Given the description of an element on the screen output the (x, y) to click on. 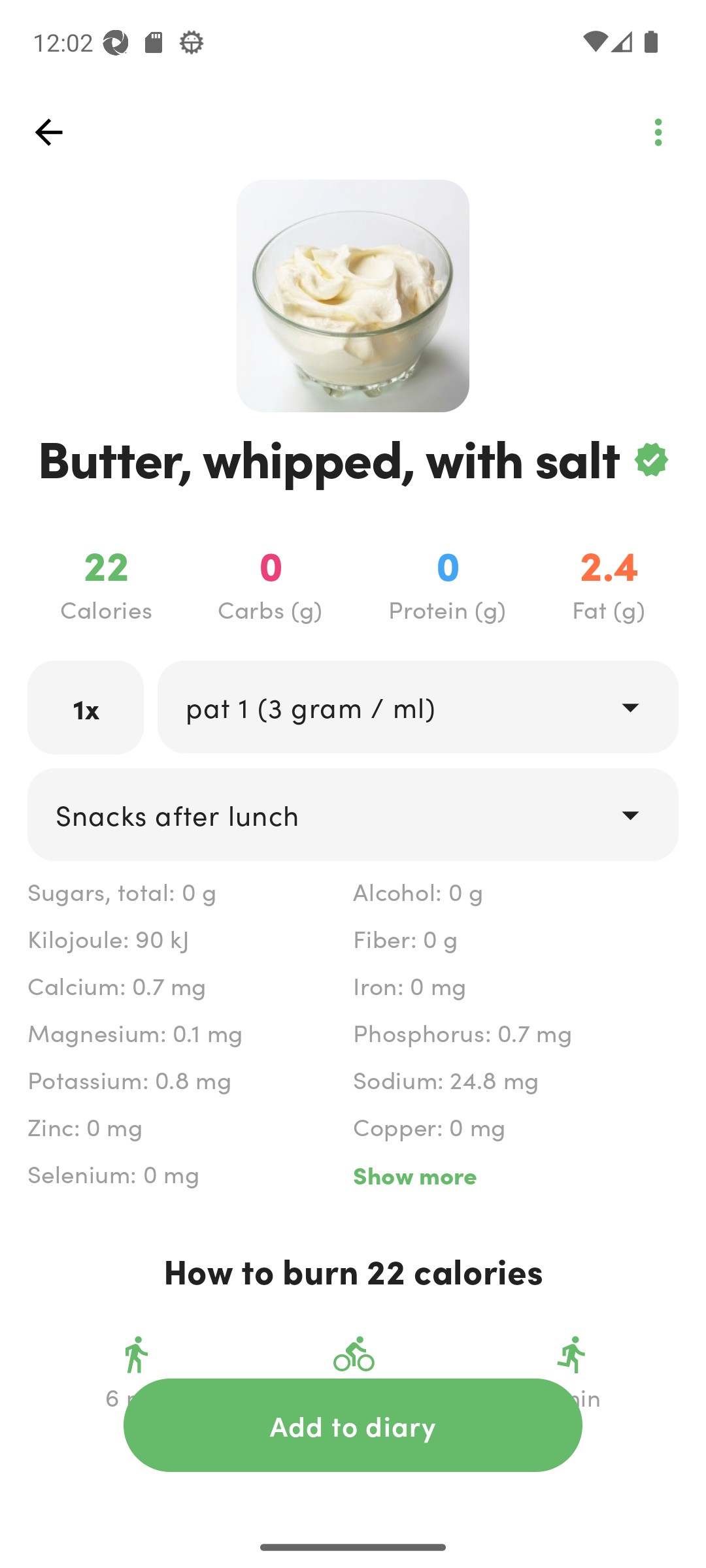
top_left_action (48, 132)
top_left_action (658, 132)
1x labeled_edit_text (85, 707)
drop_down pat 1 (3 gram / ml) (417, 706)
drop_down Snacks after lunch (352, 814)
Show more (515, 1174)
action_button Add to diary (352, 1425)
